Given the description of an element on the screen output the (x, y) to click on. 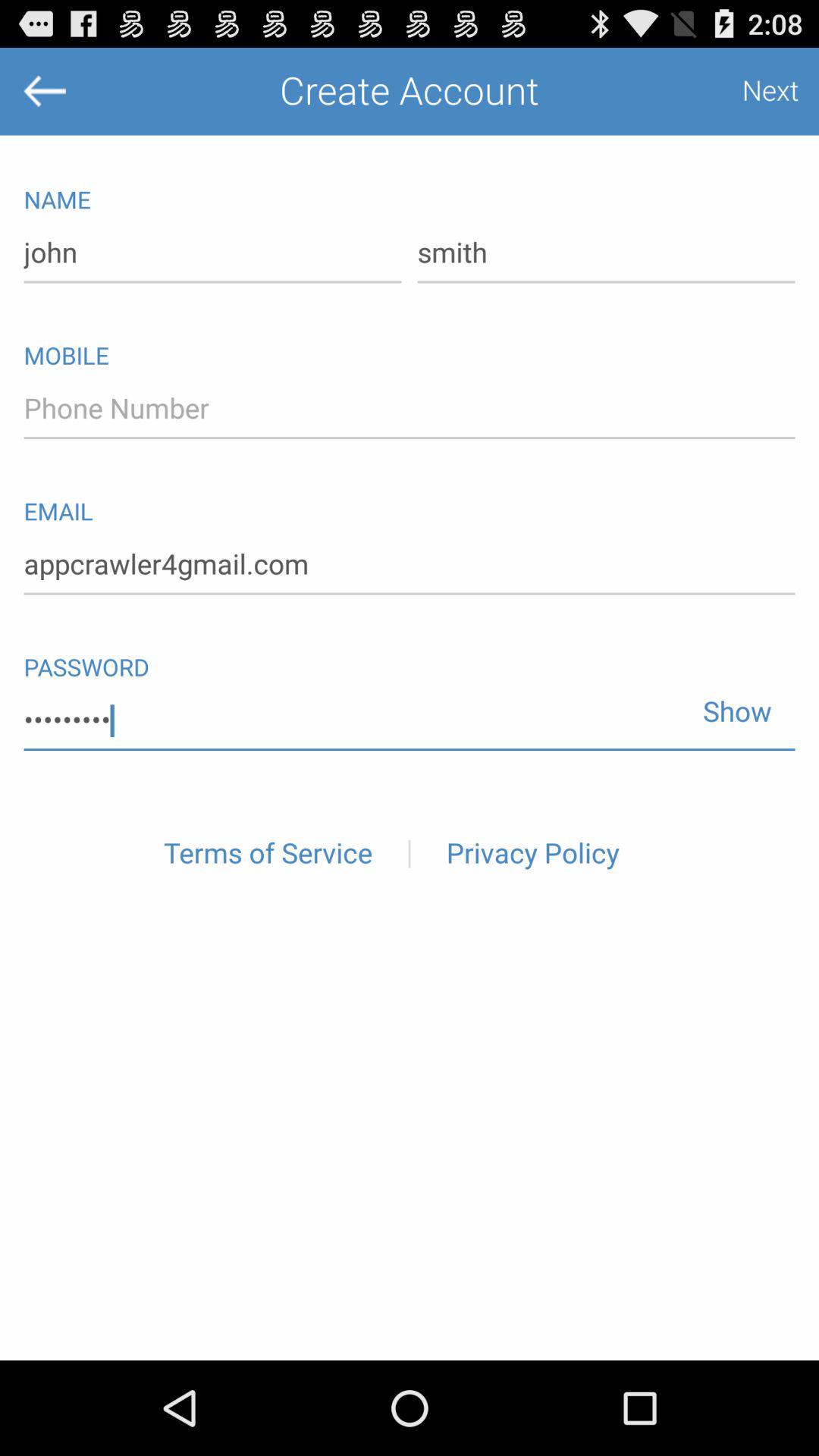
turn on item to the left of the smith item (212, 253)
